Given the description of an element on the screen output the (x, y) to click on. 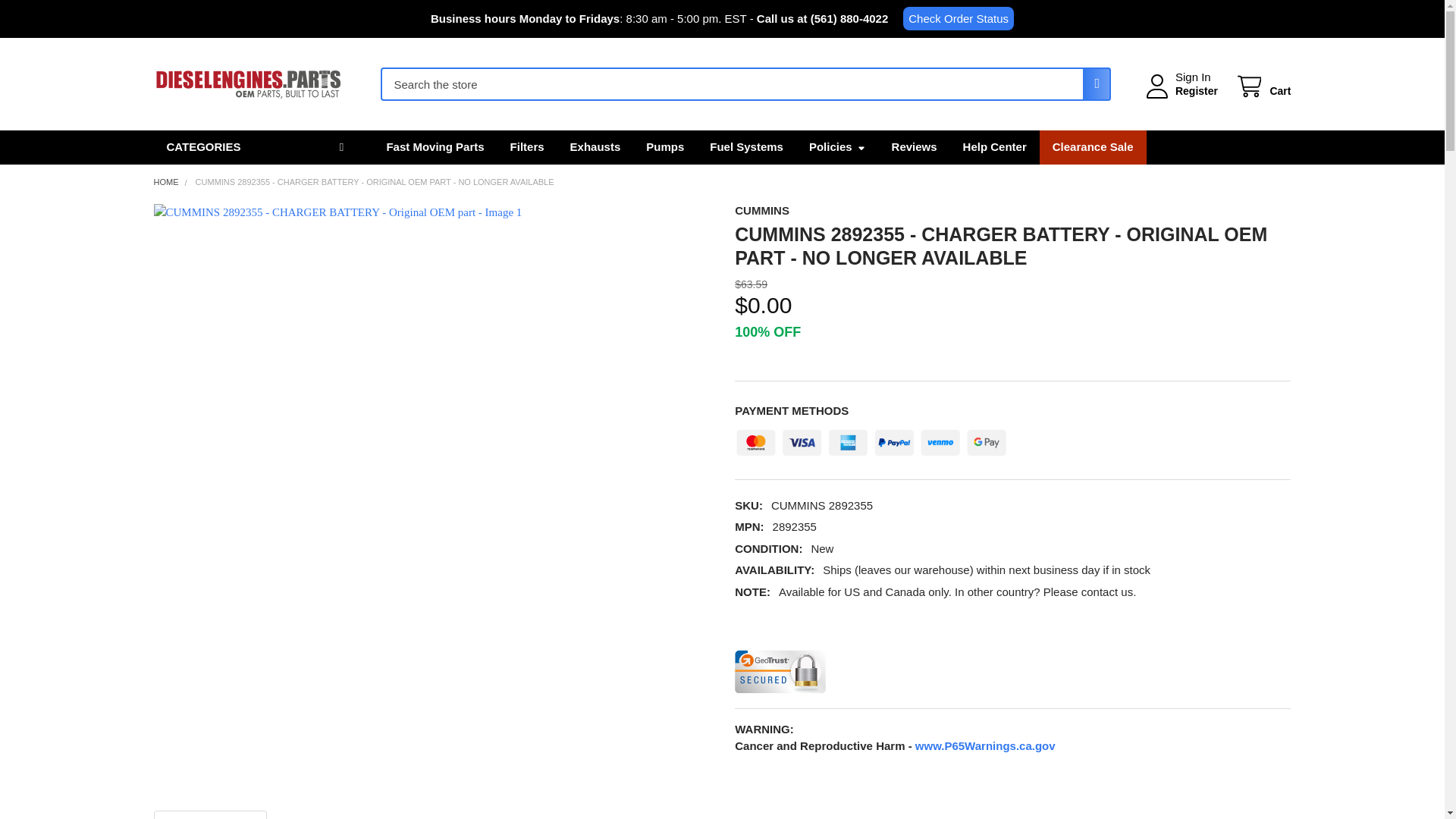
Register (1195, 91)
Sign In (1192, 77)
GeoTrust Secured (780, 671)
Search (1092, 83)
Cart (1262, 86)
CATEGORIES (255, 146)
Cart (1262, 86)
Check Order Status (957, 18)
Payment Methods (871, 438)
Search (1092, 83)
DIESELENGINES PARTS (247, 84)
